Given the description of an element on the screen output the (x, y) to click on. 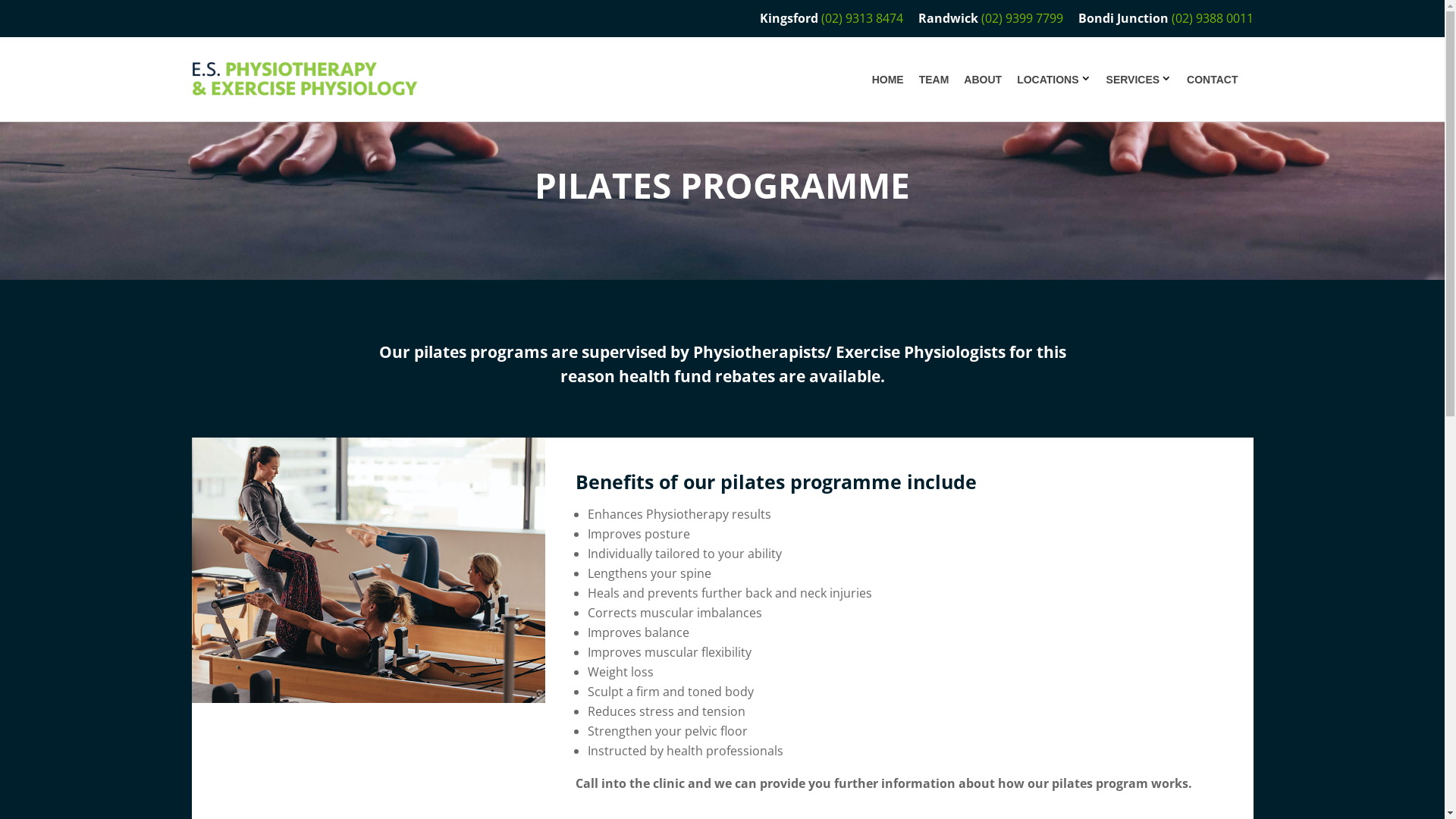
SERVICES Element type: text (1133, 79)
CONTACT Element type: text (1211, 79)
LOCATIONS Element type: text (1047, 79)
Randwick Element type: text (947, 17)
TEAM Element type: text (934, 79)
(02) 9388 0011 Element type: text (1211, 17)
(02) 9313 8474 Element type: text (861, 17)
Kingsford Element type: text (790, 17)
ABOUT Element type: text (982, 79)
HOME Element type: text (887, 79)
Bondi Junction Element type: text (1124, 17)
(02) 9399 7799 Element type: text (1022, 17)
